Given the description of an element on the screen output the (x, y) to click on. 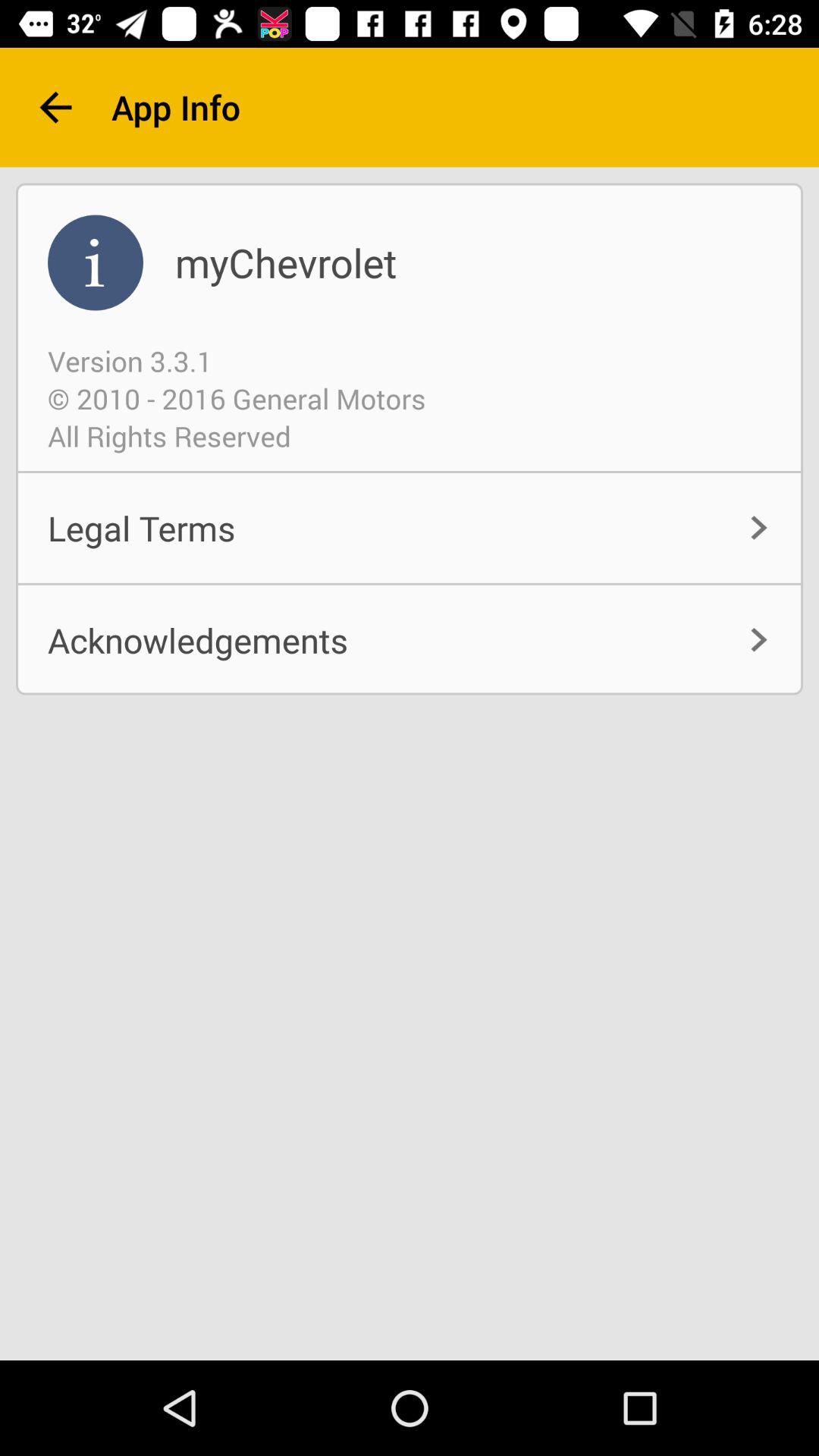
turn on the acknowledgements icon (409, 640)
